Given the description of an element on the screen output the (x, y) to click on. 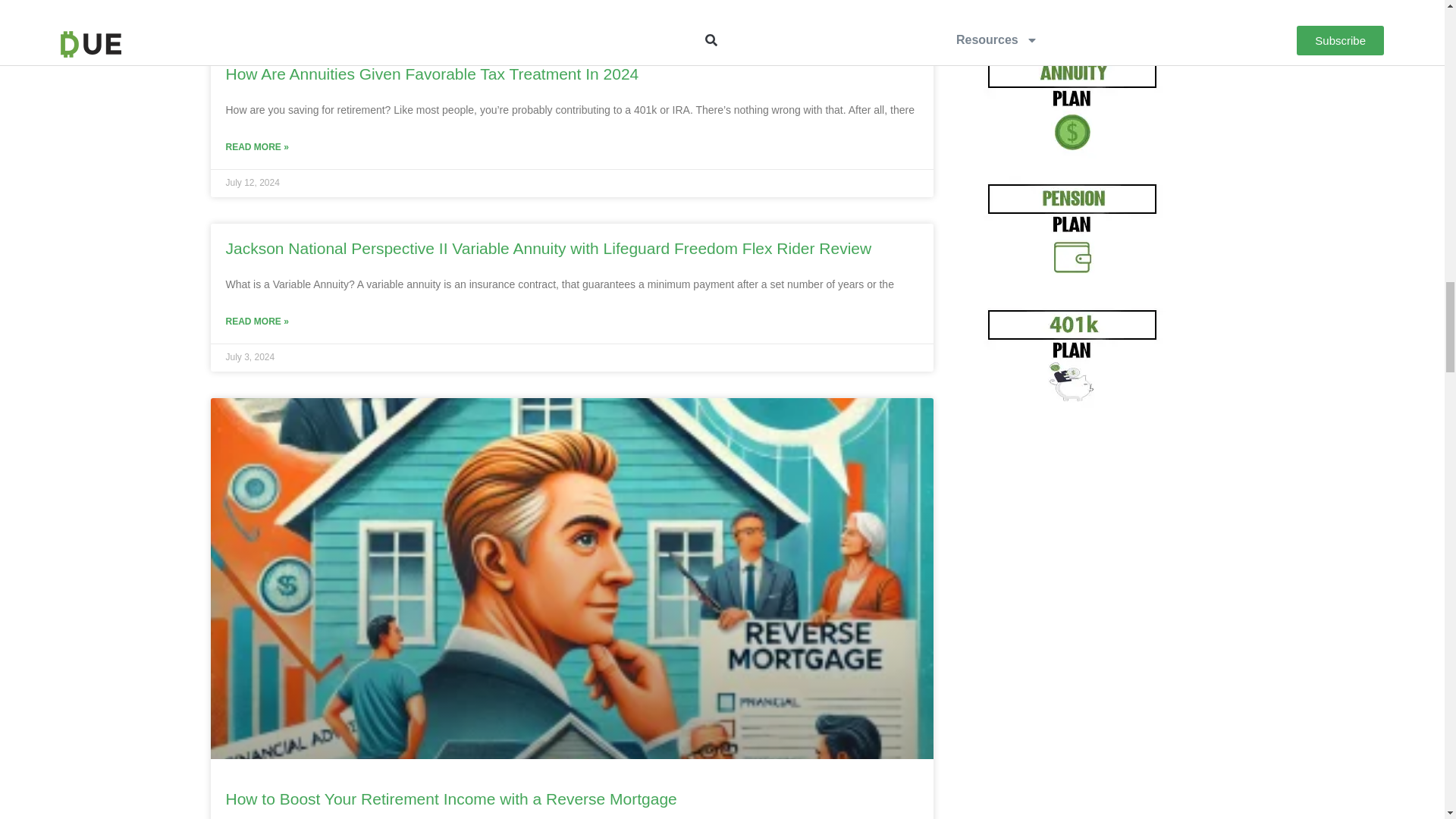
How Are Annuities Given Favorable Tax Treatment In 2024 (432, 73)
How to Boost Your Retirement Income with a Reverse Mortgage (451, 798)
